Given the description of an element on the screen output the (x, y) to click on. 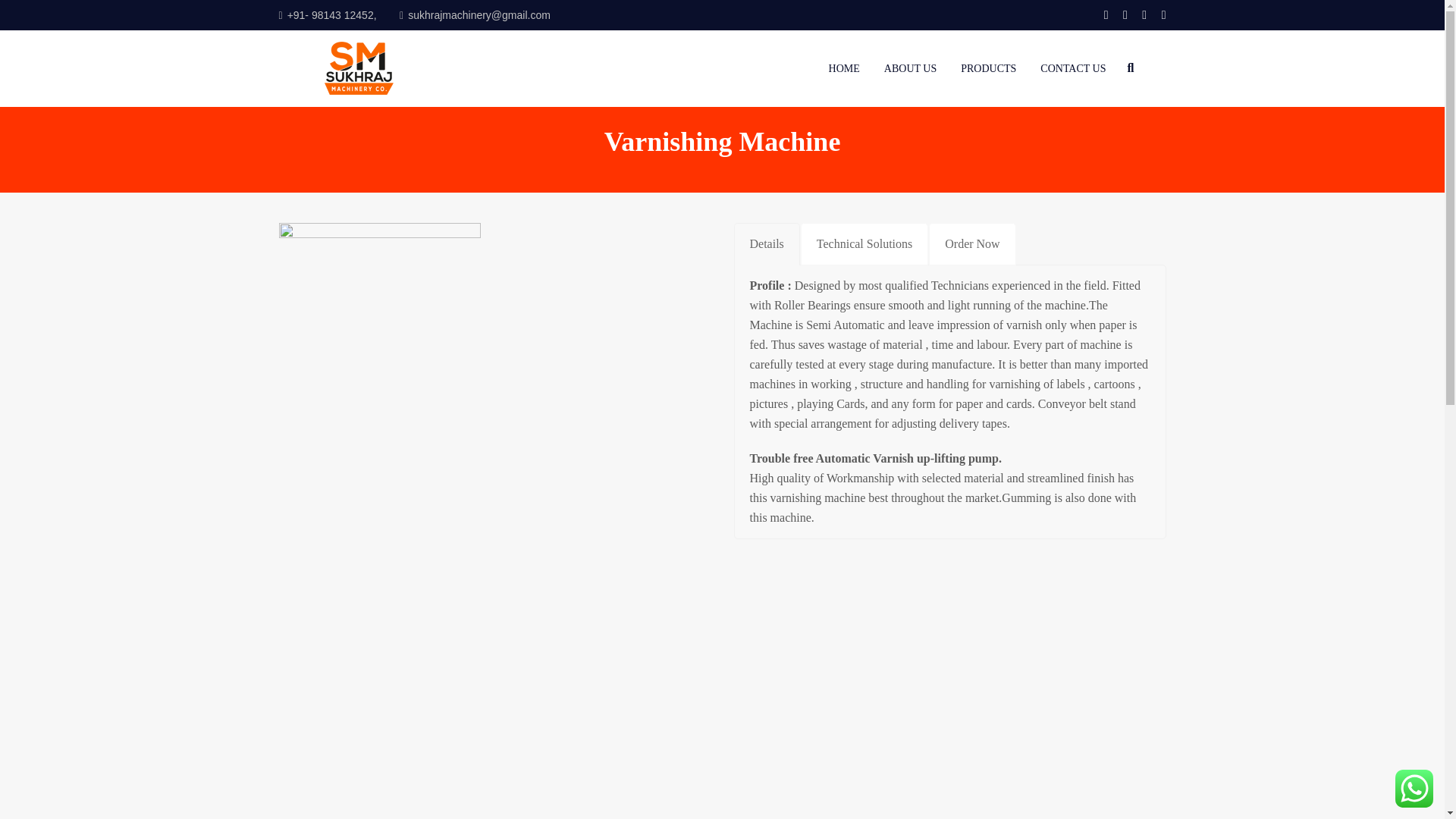
Order Now (971, 243)
PRODUCTS (988, 68)
ABOUT US (909, 68)
HOME (844, 68)
Details (766, 243)
CONTACT US (1073, 68)
Technical Solutions (864, 243)
